Given the description of an element on the screen output the (x, y) to click on. 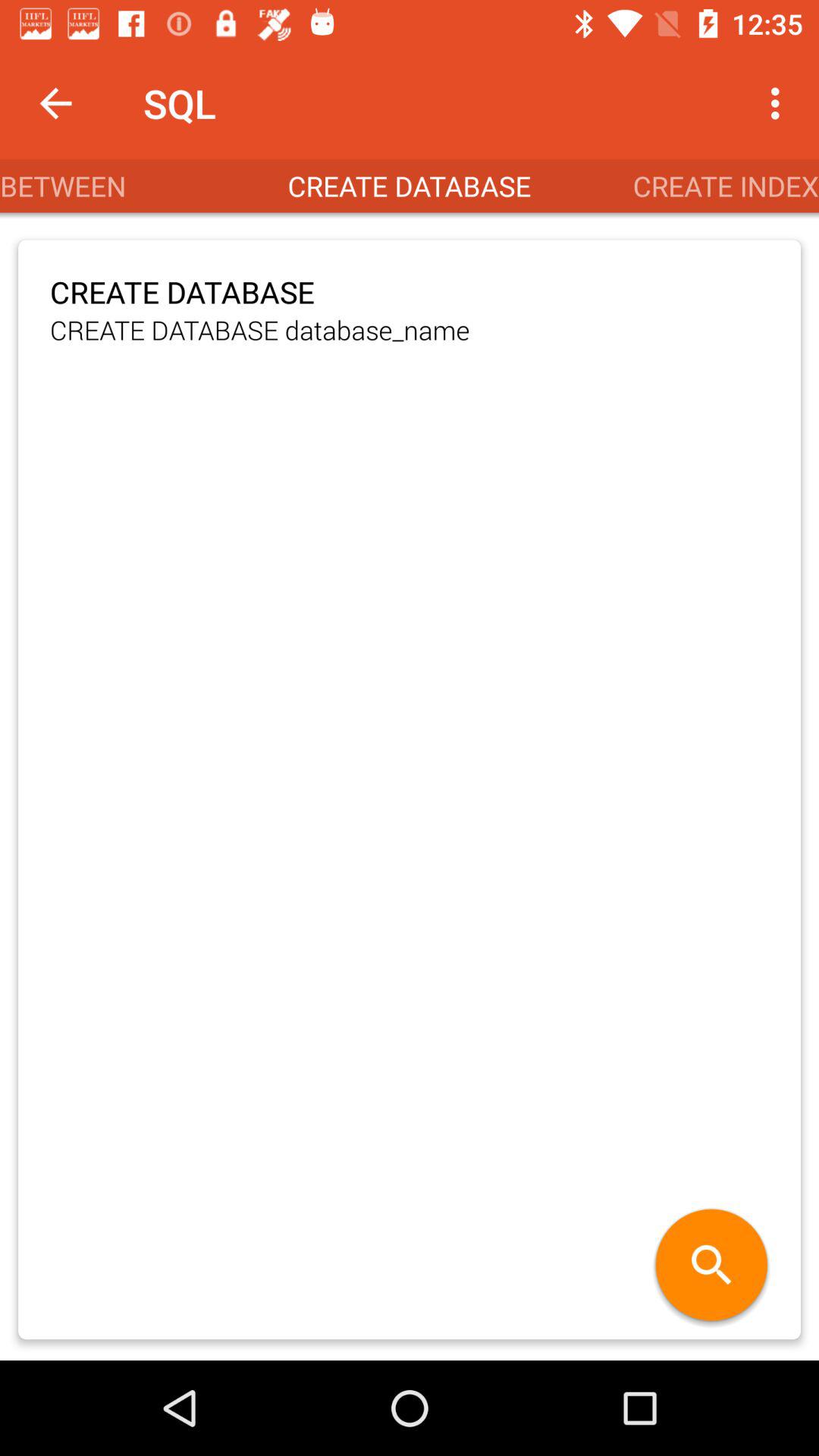
choose item at the bottom right corner (711, 1266)
